Given the description of an element on the screen output the (x, y) to click on. 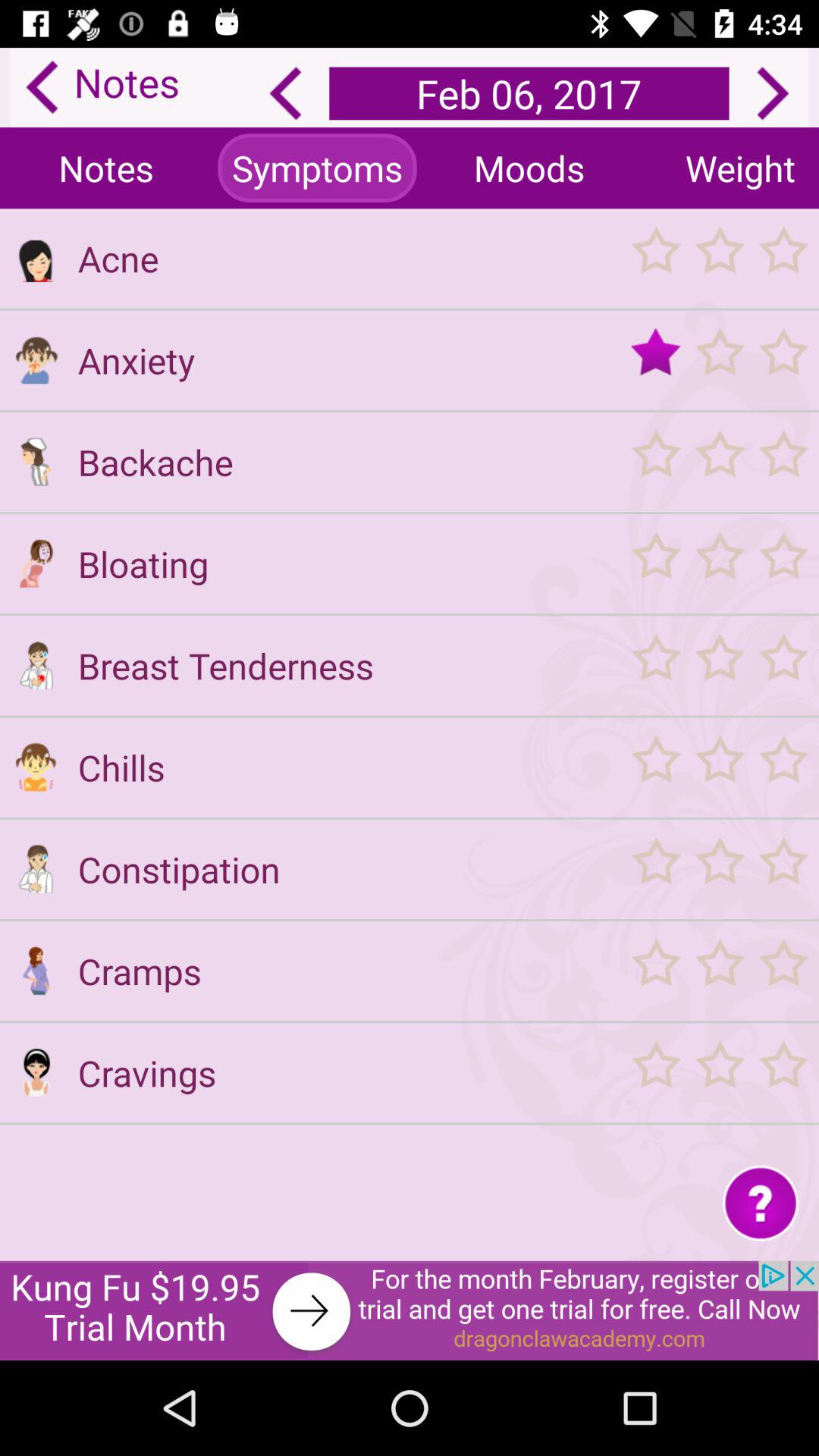
rate constipation symptoms (719, 868)
